Given the description of an element on the screen output the (x, y) to click on. 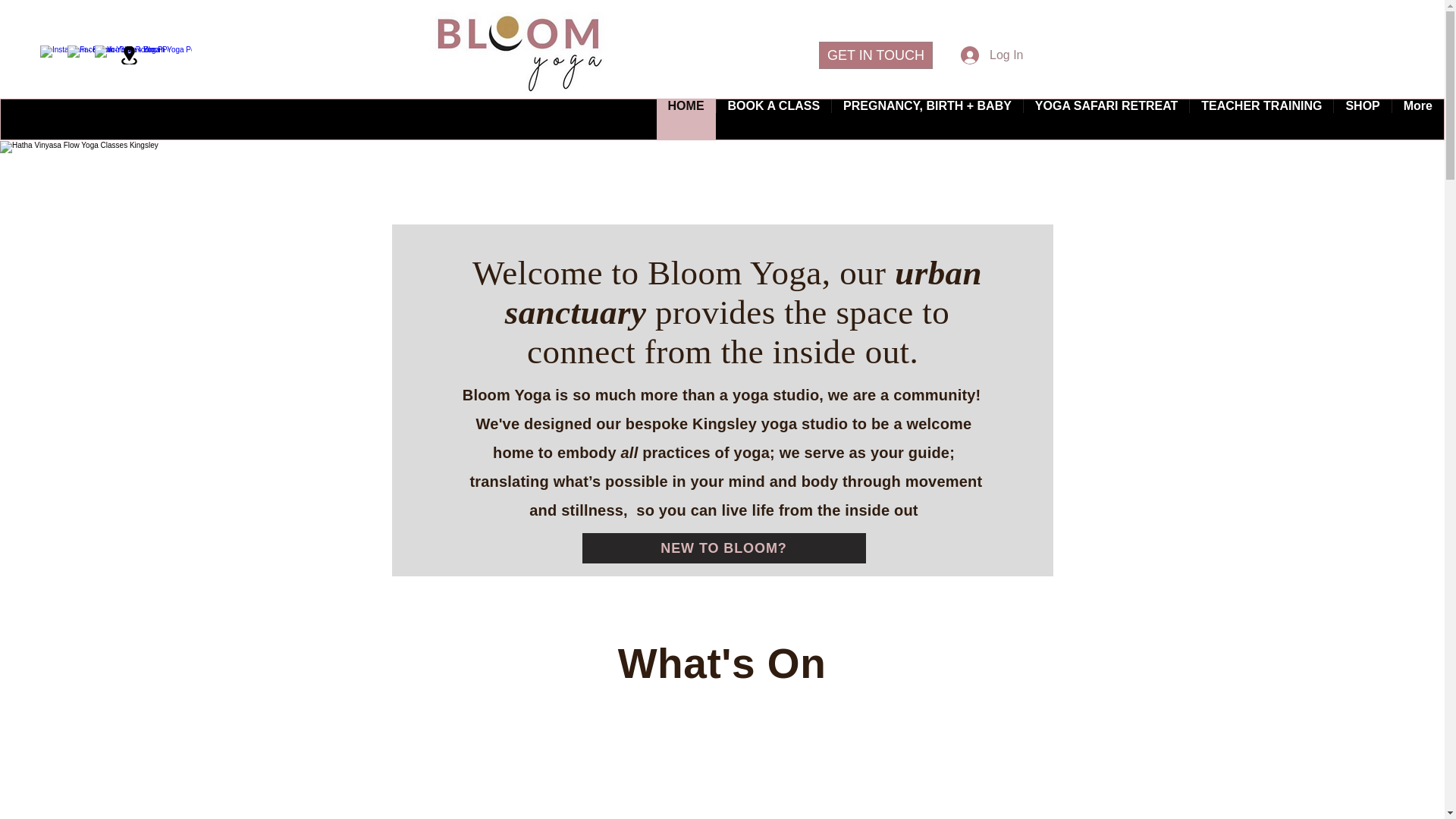
YOGA SAFARI RETREAT (1106, 119)
HOME (686, 119)
BOOK A CLASS (773, 119)
GET IN TOUCH (875, 54)
NEW TO BLOOM? (724, 548)
SHOP (1361, 119)
Log In (980, 55)
TEACHER TRAINING (1261, 119)
